Given the description of an element on the screen output the (x, y) to click on. 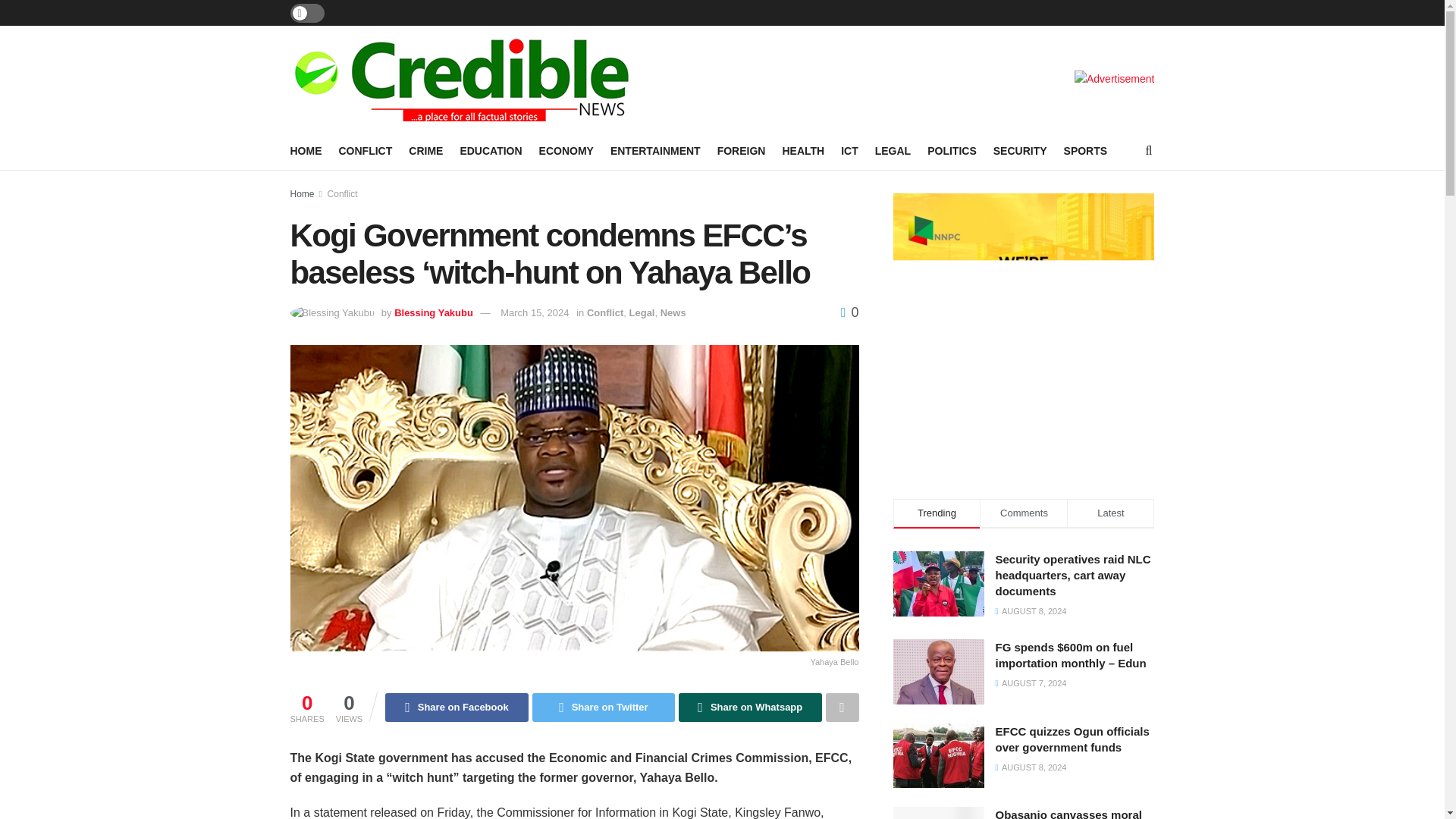
SPORTS (1086, 150)
POLITICS (951, 150)
March 15, 2024 (534, 312)
CRIME (425, 150)
CONFLICT (364, 150)
ENTERTAINMENT (655, 150)
Home (301, 194)
FOREIGN (741, 150)
LEGAL (893, 150)
EDUCATION (490, 150)
